Given the description of an element on the screen output the (x, y) to click on. 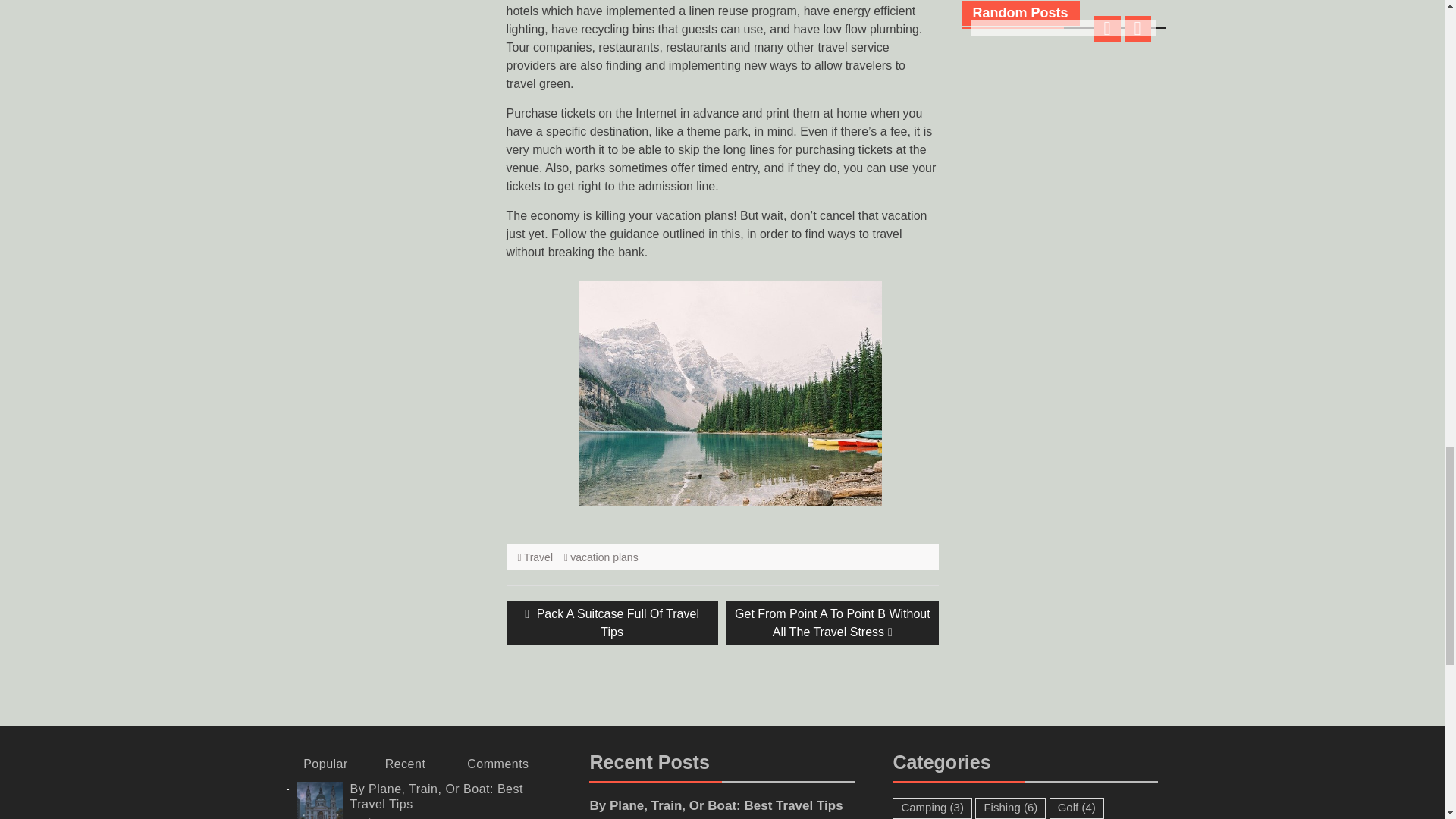
Travel (611, 623)
vacation plans (538, 557)
